Given the description of an element on the screen output the (x, y) to click on. 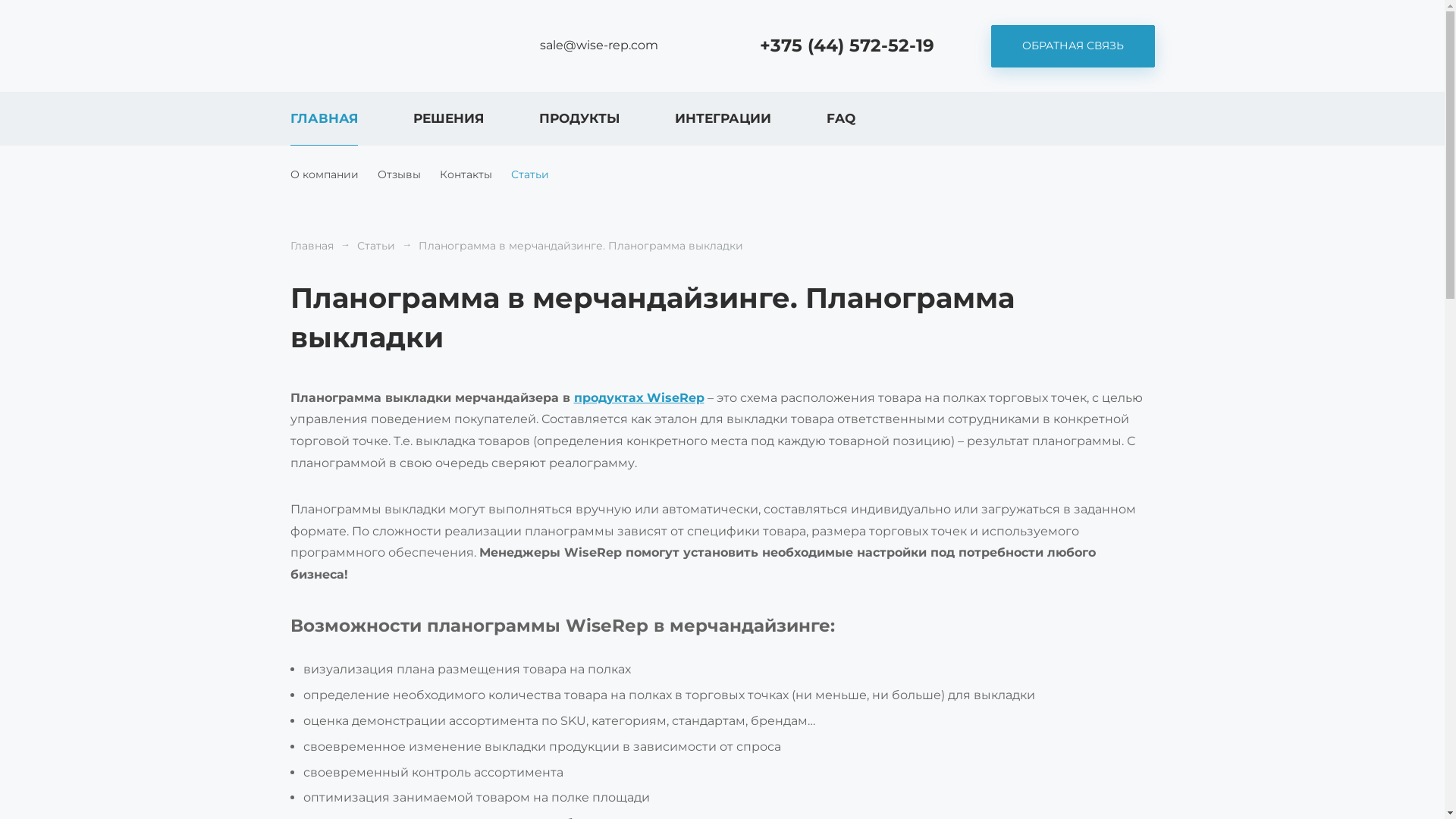
+375 (44) 572-52-19 Element type: text (832, 45)
FAQ Element type: text (840, 117)
WiseRep CRM Element type: text (361, 45)
sale@wise-rep.com Element type: text (584, 44)
